Given the description of an element on the screen output the (x, y) to click on. 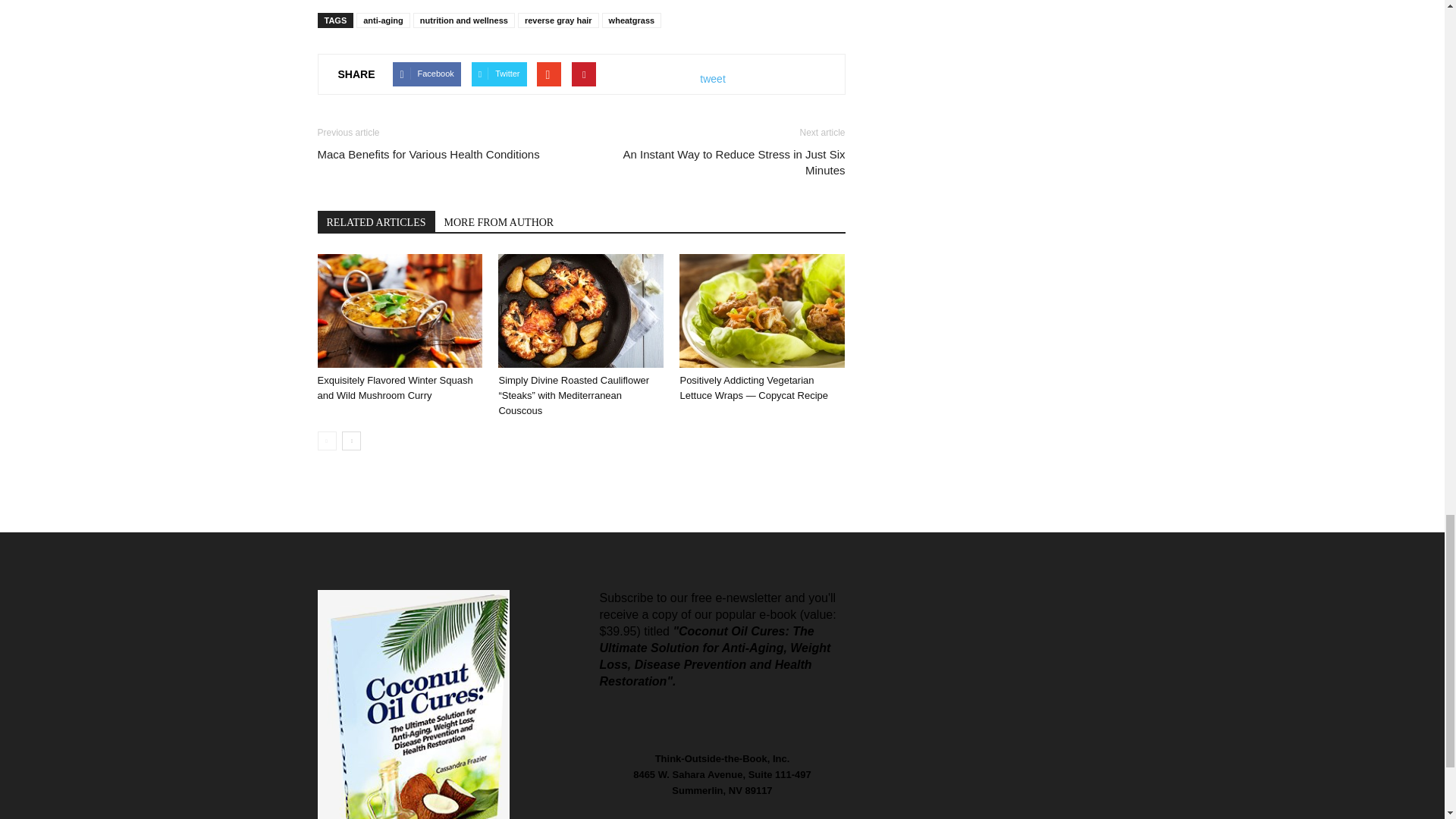
Exquisitely Flavored Winter Squash and Wild Mushroom Curry (399, 310)
Exquisitely Flavored Winter Squash and Wild Mushroom Curry (394, 387)
